Given the description of an element on the screen output the (x, y) to click on. 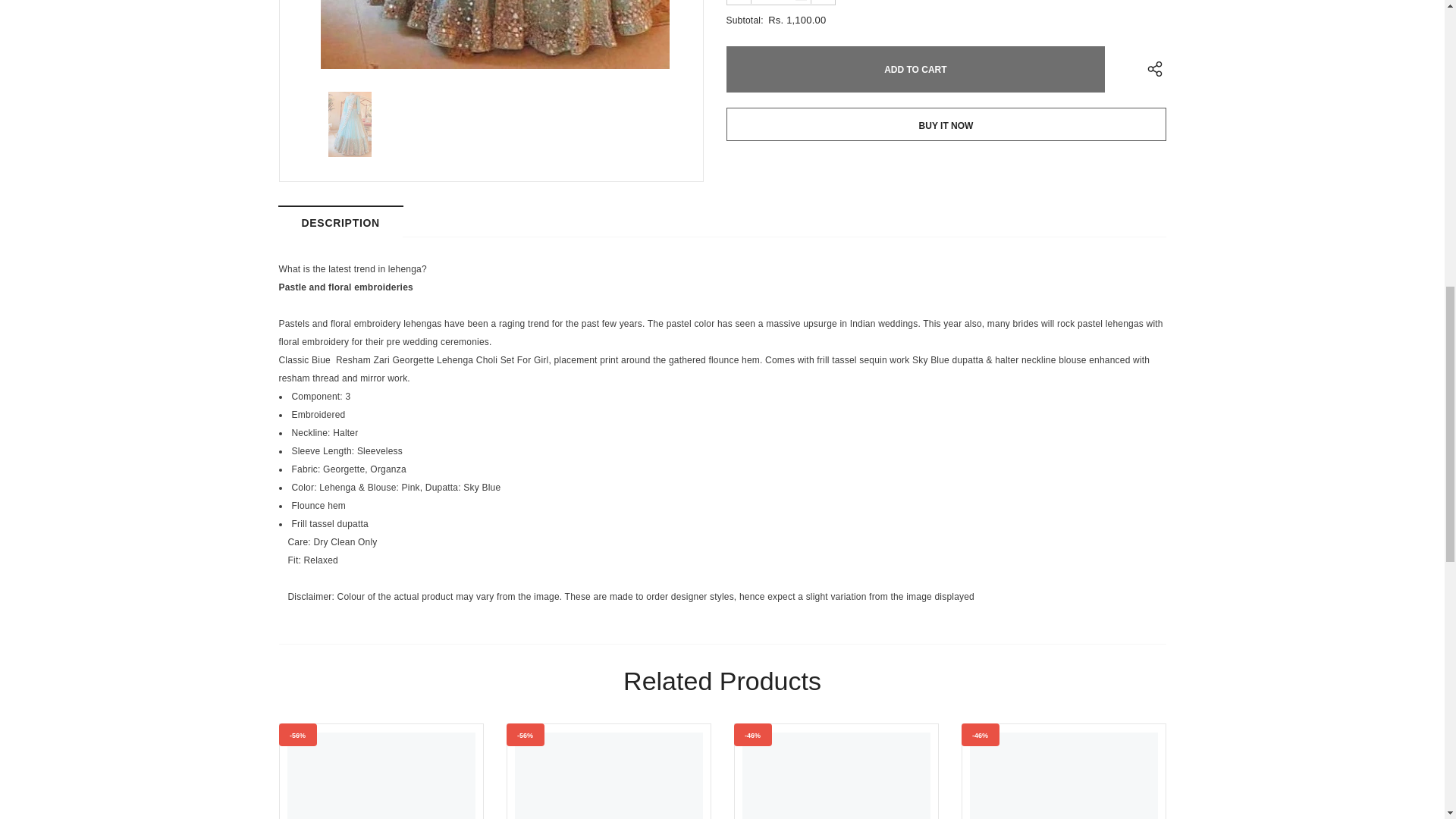
DESCRIPTION (341, 221)
Add to cart (915, 68)
1 (780, 2)
Add to cart (915, 68)
BUY IT NOW (946, 123)
